Given the description of an element on the screen output the (x, y) to click on. 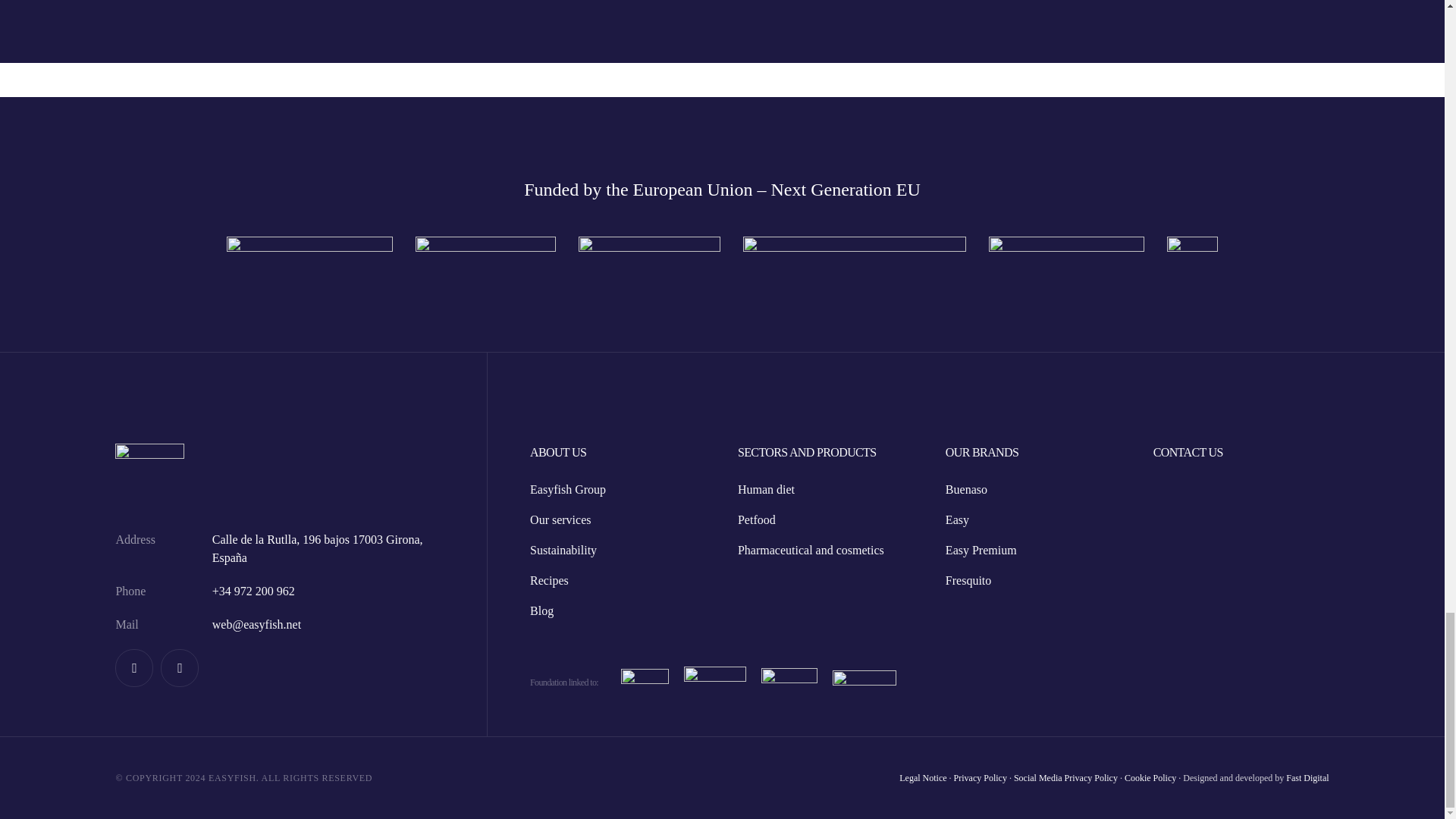
logo plan de recuperacion (854, 253)
logo nextgeneration (649, 255)
logo generalitat catalunya departametn treball (310, 253)
logo next gen catalunya (485, 255)
